Given the description of an element on the screen output the (x, y) to click on. 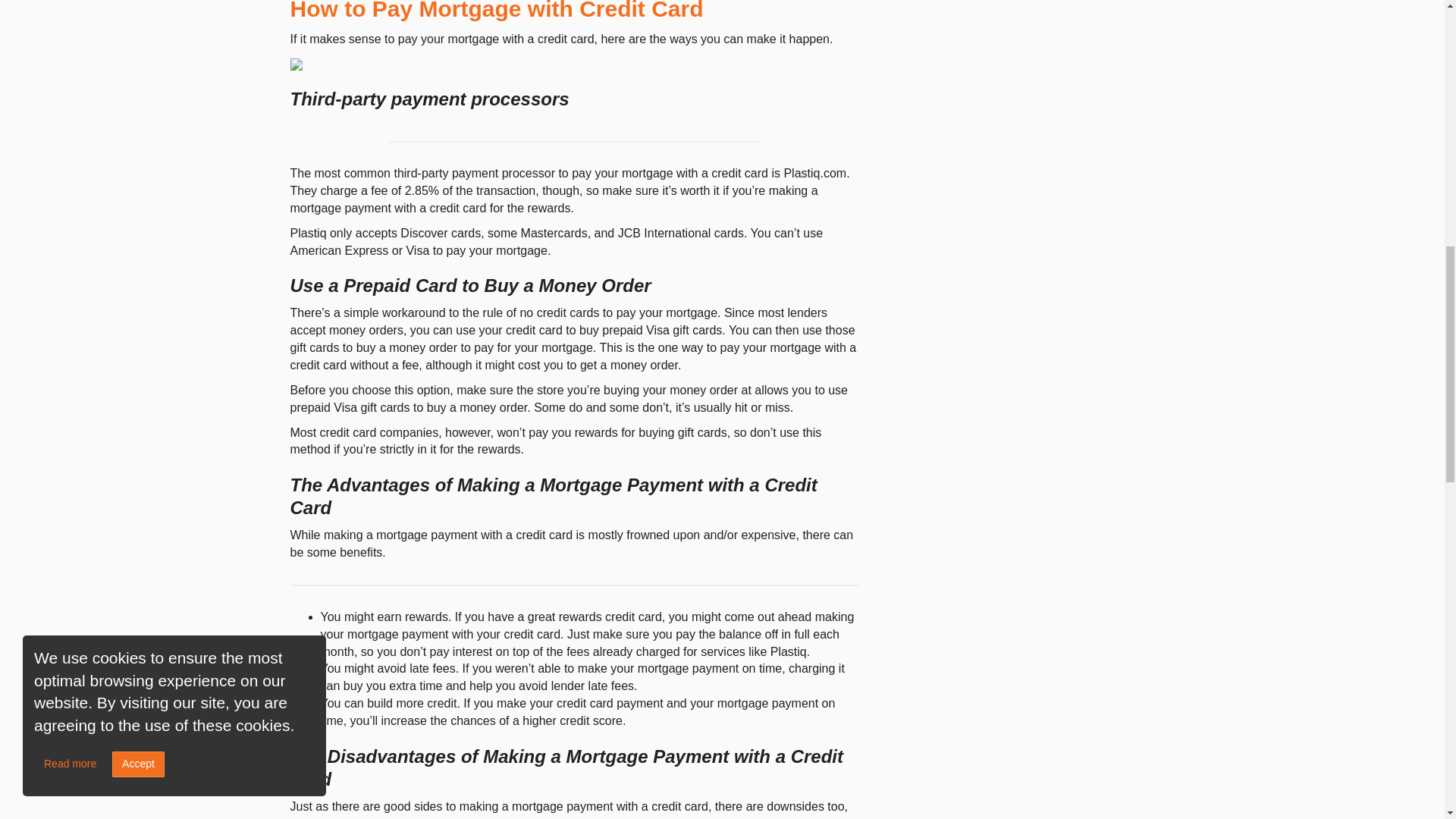
How to Pay Mortgage with Credit Card (496, 10)
